Given the description of an element on the screen output the (x, y) to click on. 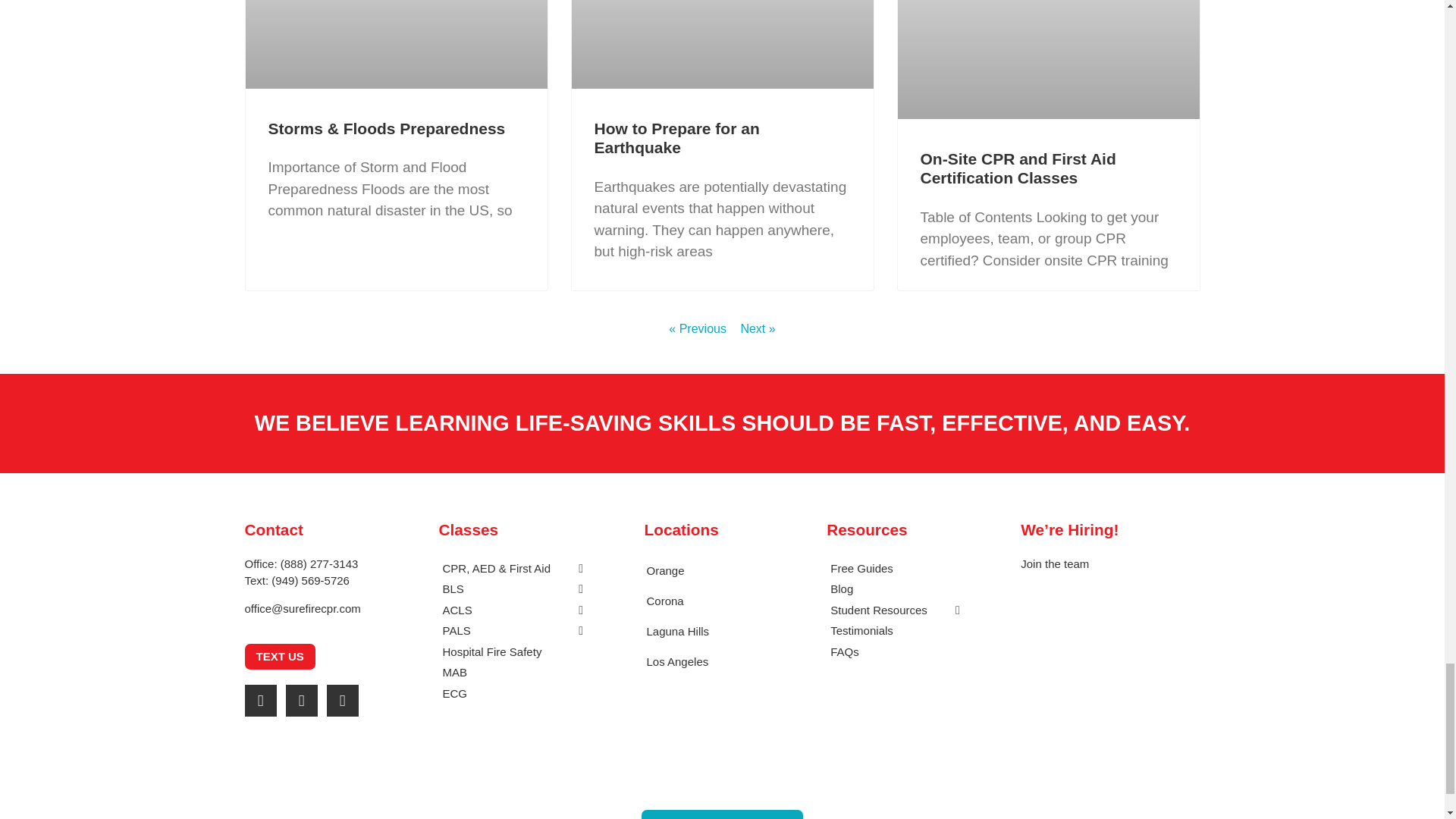
TEXT US (279, 656)
On-Site CPR and First Aid Certification Classes (1018, 167)
How to Prepare for an Earthquake (677, 137)
